Given the description of an element on the screen output the (x, y) to click on. 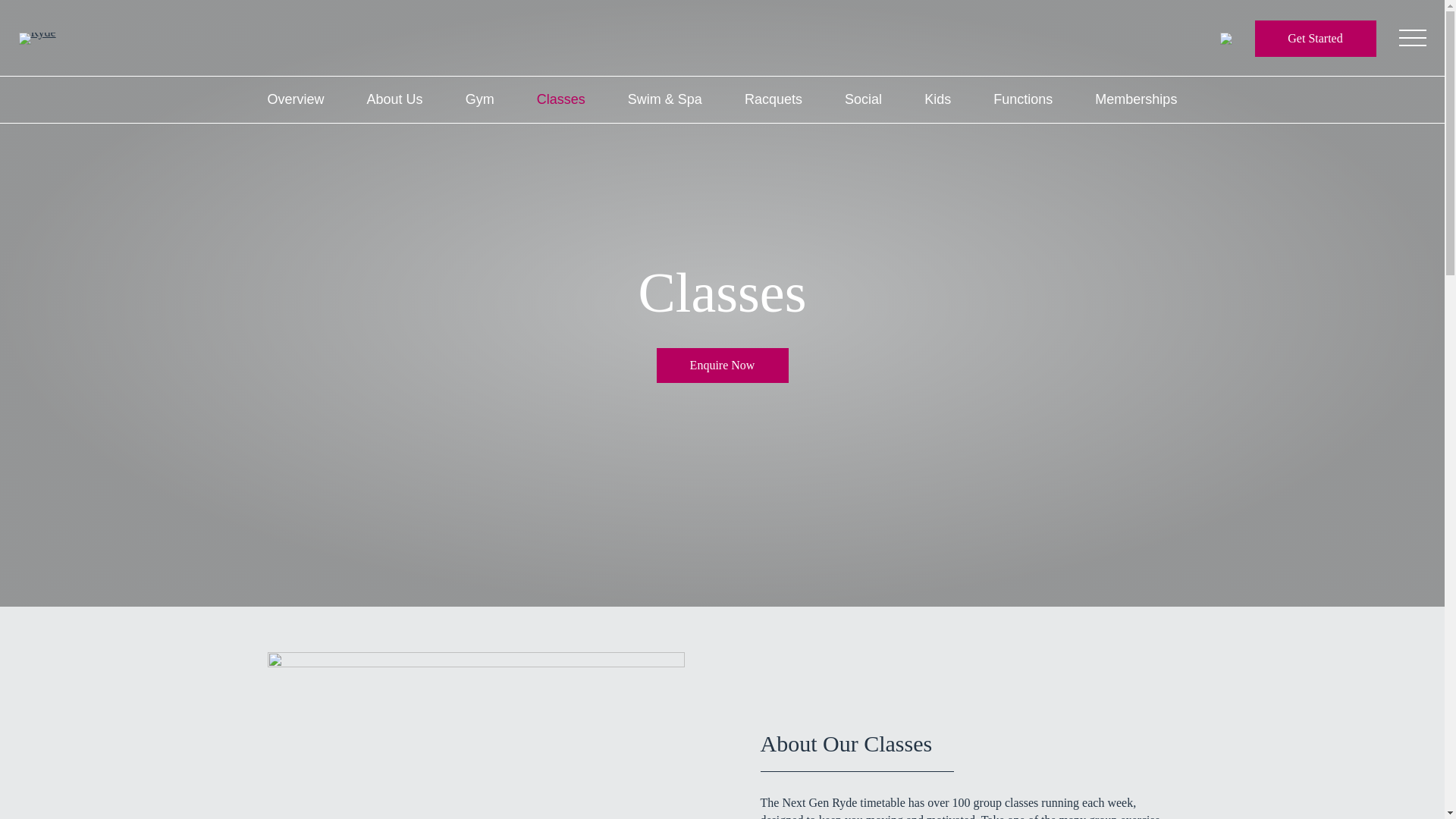
Overview (294, 99)
Memberships (1135, 99)
Racquets (773, 99)
Functions (1022, 99)
Classes (561, 99)
About Us (394, 99)
Get Started (1314, 38)
